Given the description of an element on the screen output the (x, y) to click on. 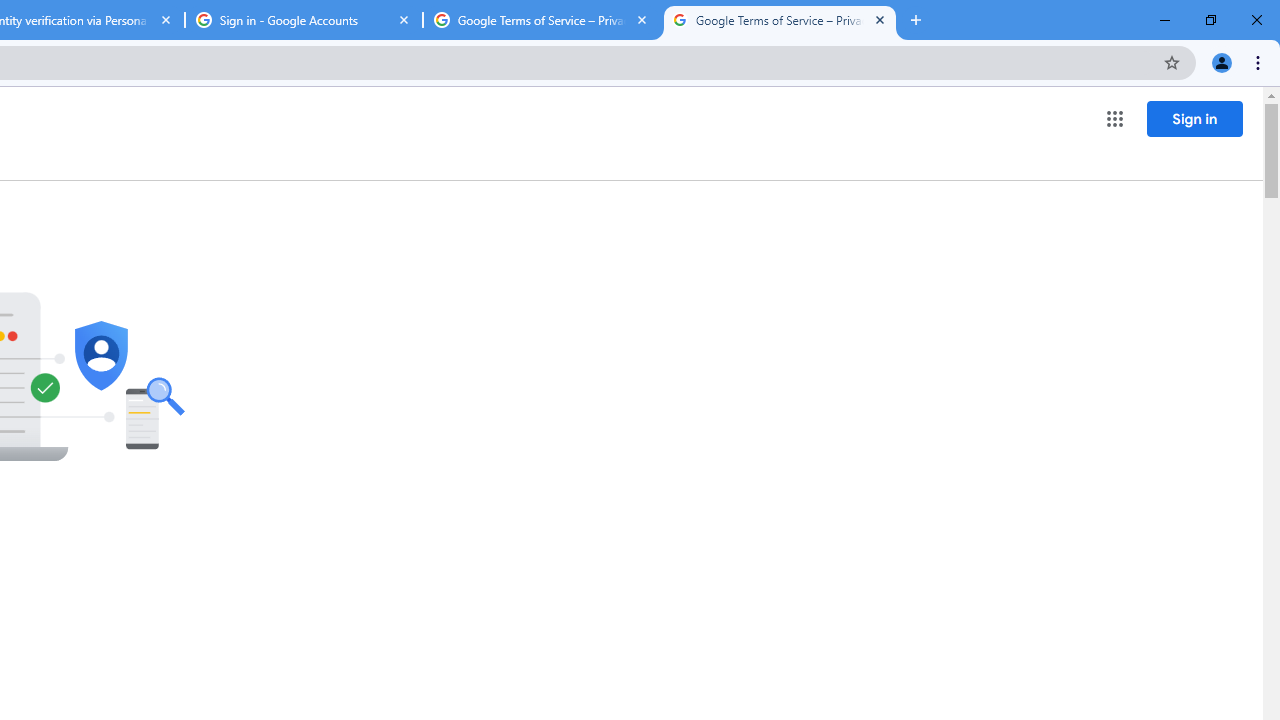
Sign in - Google Accounts (304, 20)
